Given the description of an element on the screen output the (x, y) to click on. 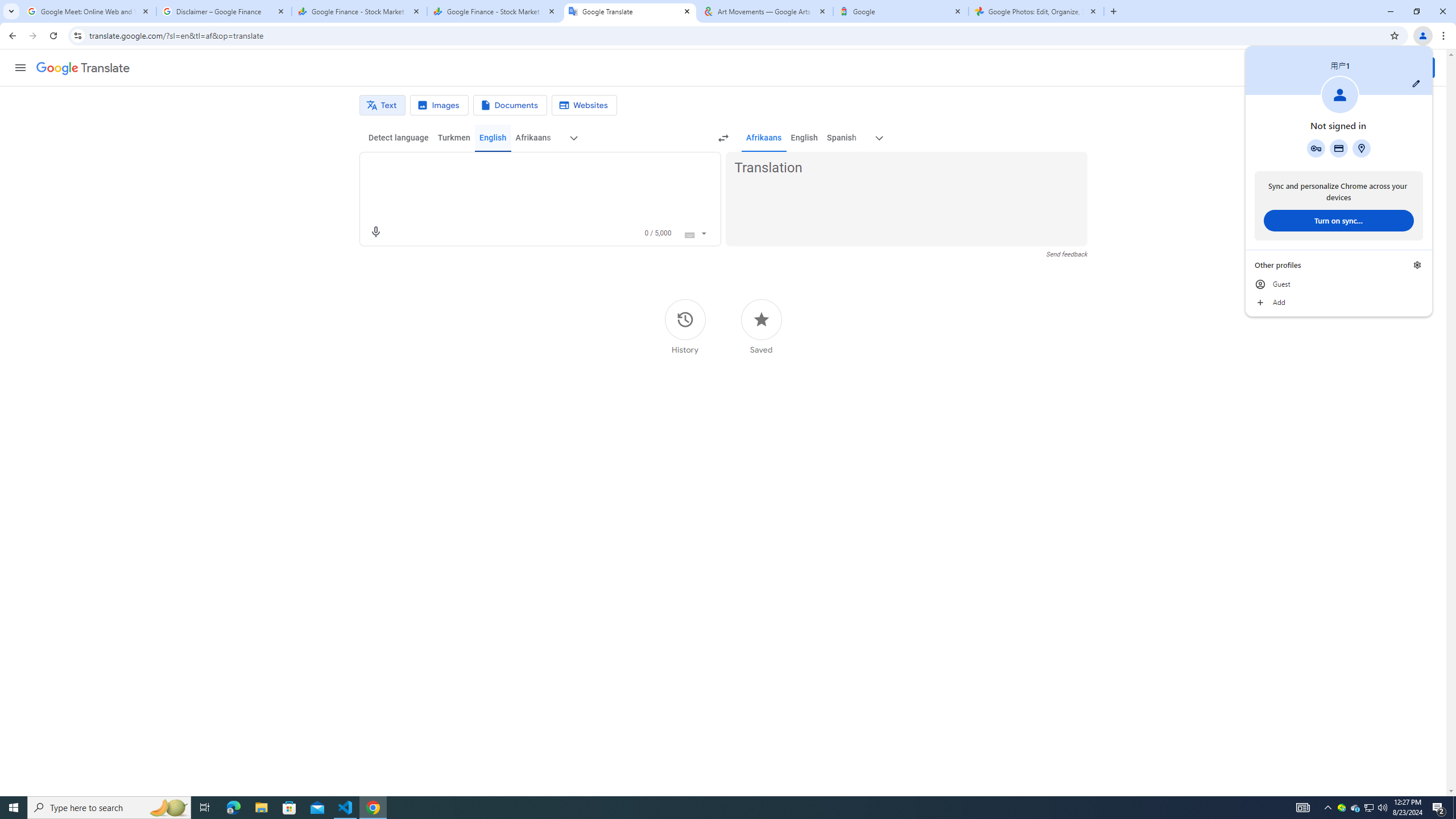
More target languages (879, 137)
Notification Chevron (1327, 807)
Website translation (584, 105)
Microsoft Edge (233, 807)
Visual Studio Code - 1 running window (345, 807)
File Explorer (261, 807)
Action Center, 2 new notifications (1439, 807)
Saved (761, 326)
Afrikaans (763, 137)
Translate by voice (375, 231)
